Given the description of an element on the screen output the (x, y) to click on. 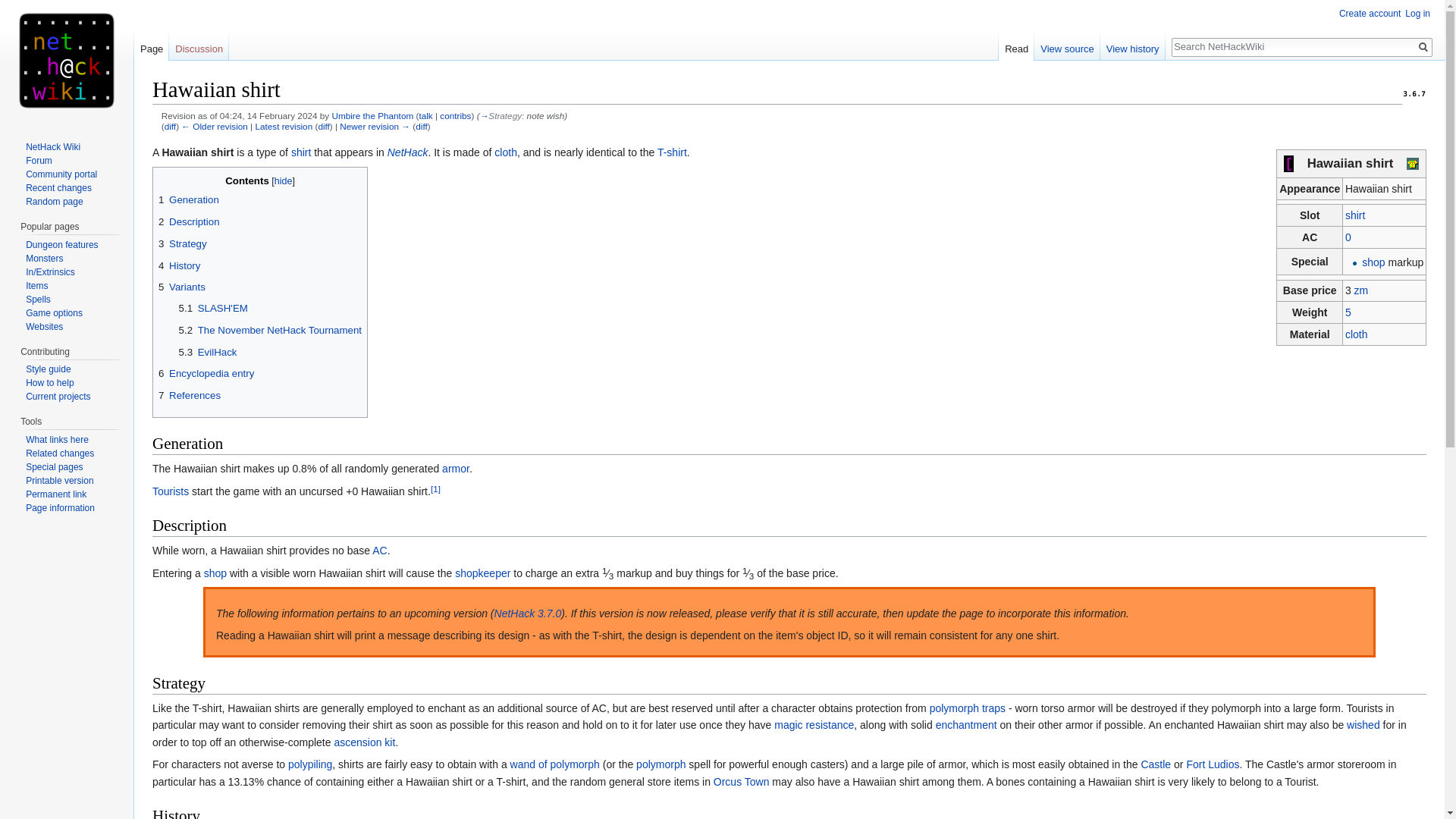
Hawaiian shirt (323, 126)
Go (1423, 46)
diff (170, 126)
Zorkmid (1361, 290)
diff (420, 126)
shirt (301, 152)
User:Umbire the Phantom (372, 115)
shop (1372, 262)
Latest revision (283, 126)
contribs (454, 115)
User talk:Umbire the Phantom (425, 115)
Hawaiian shirt (170, 126)
5.2 The November NetHack Tournament (270, 330)
Hawaiian shirt (283, 126)
